Given the description of an element on the screen output the (x, y) to click on. 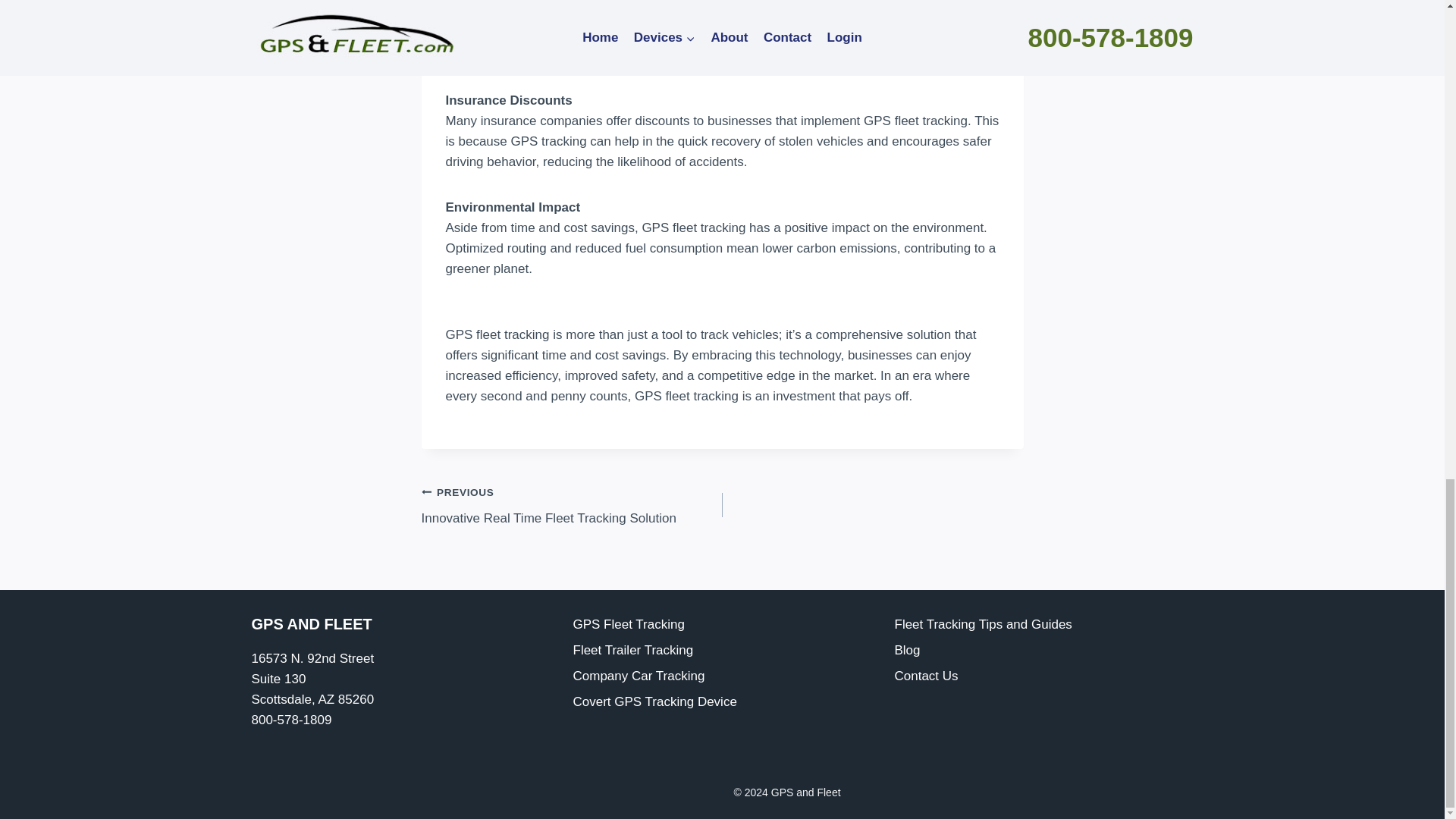
Blog (1044, 651)
Contact Us (1044, 677)
Fleet Trailer Tracking (722, 651)
Covert GPS Tracking Device (722, 702)
Company Car Tracking (722, 677)
GPS Fleet Tracking (722, 625)
Fleet Tracking Tips and Guides (1044, 625)
